Given the description of an element on the screen output the (x, y) to click on. 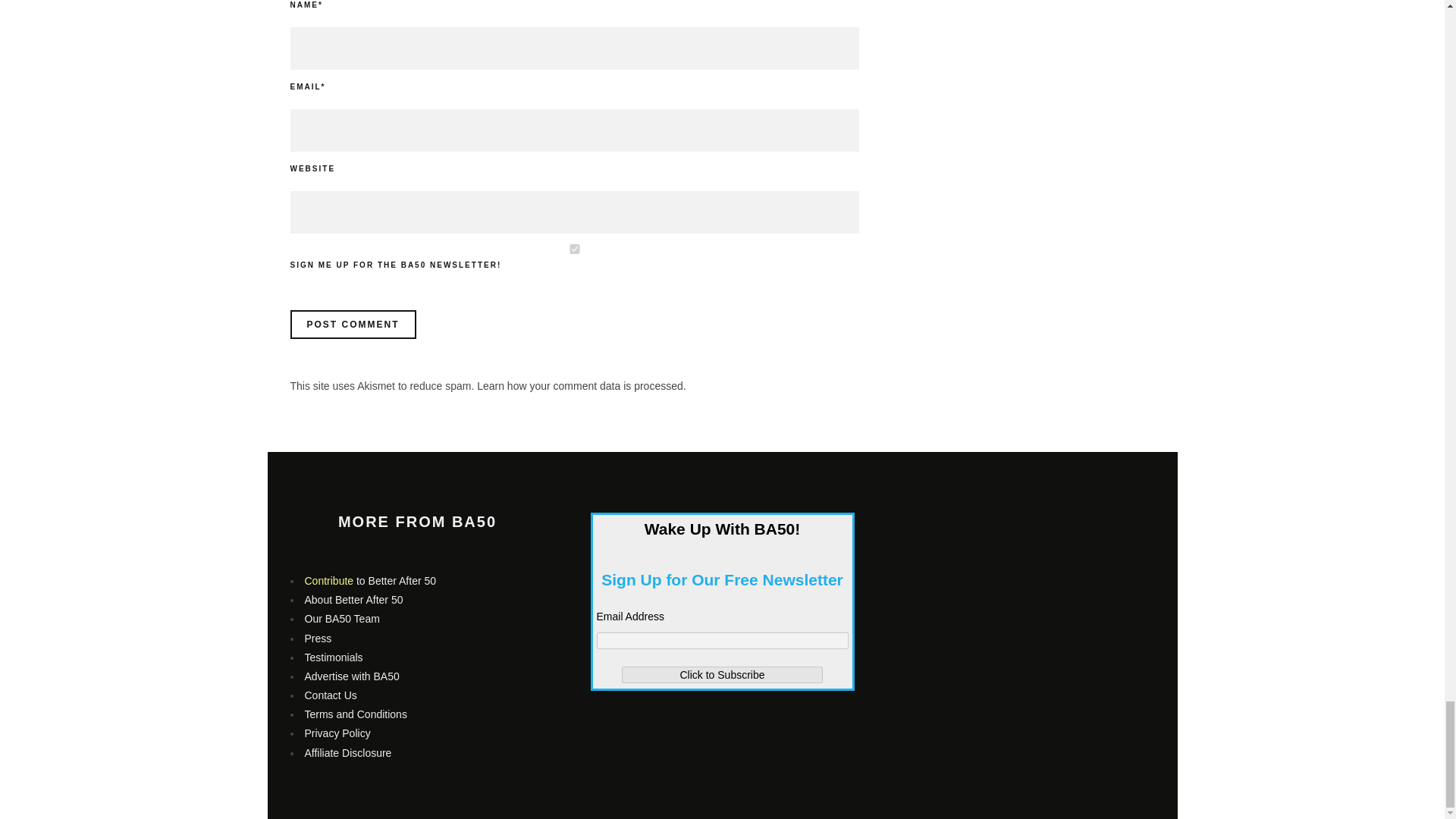
1 (574, 248)
Click to Subscribe (722, 674)
Post Comment (351, 324)
